Given the description of an element on the screen output the (x, y) to click on. 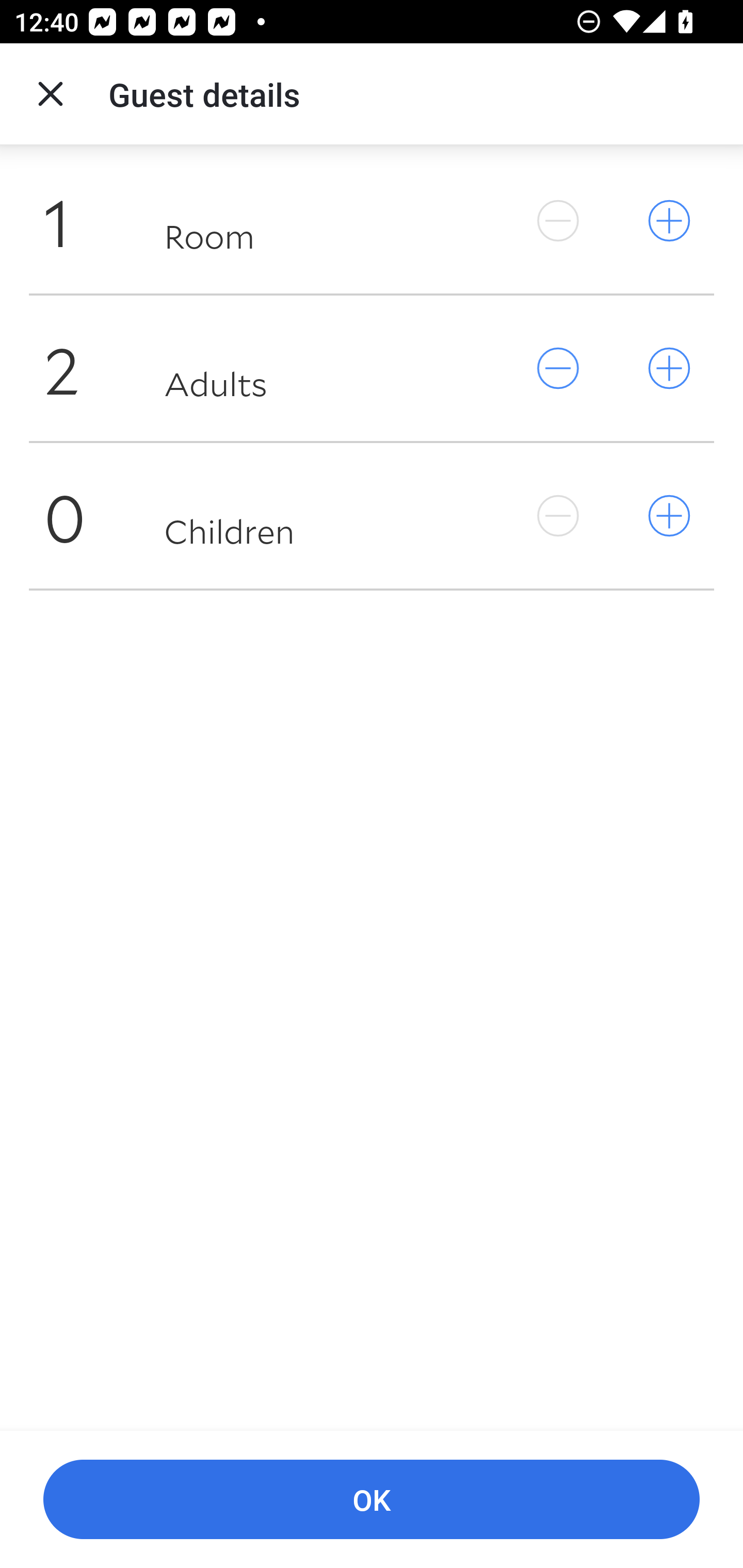
OK (371, 1499)
